Given the description of an element on the screen output the (x, y) to click on. 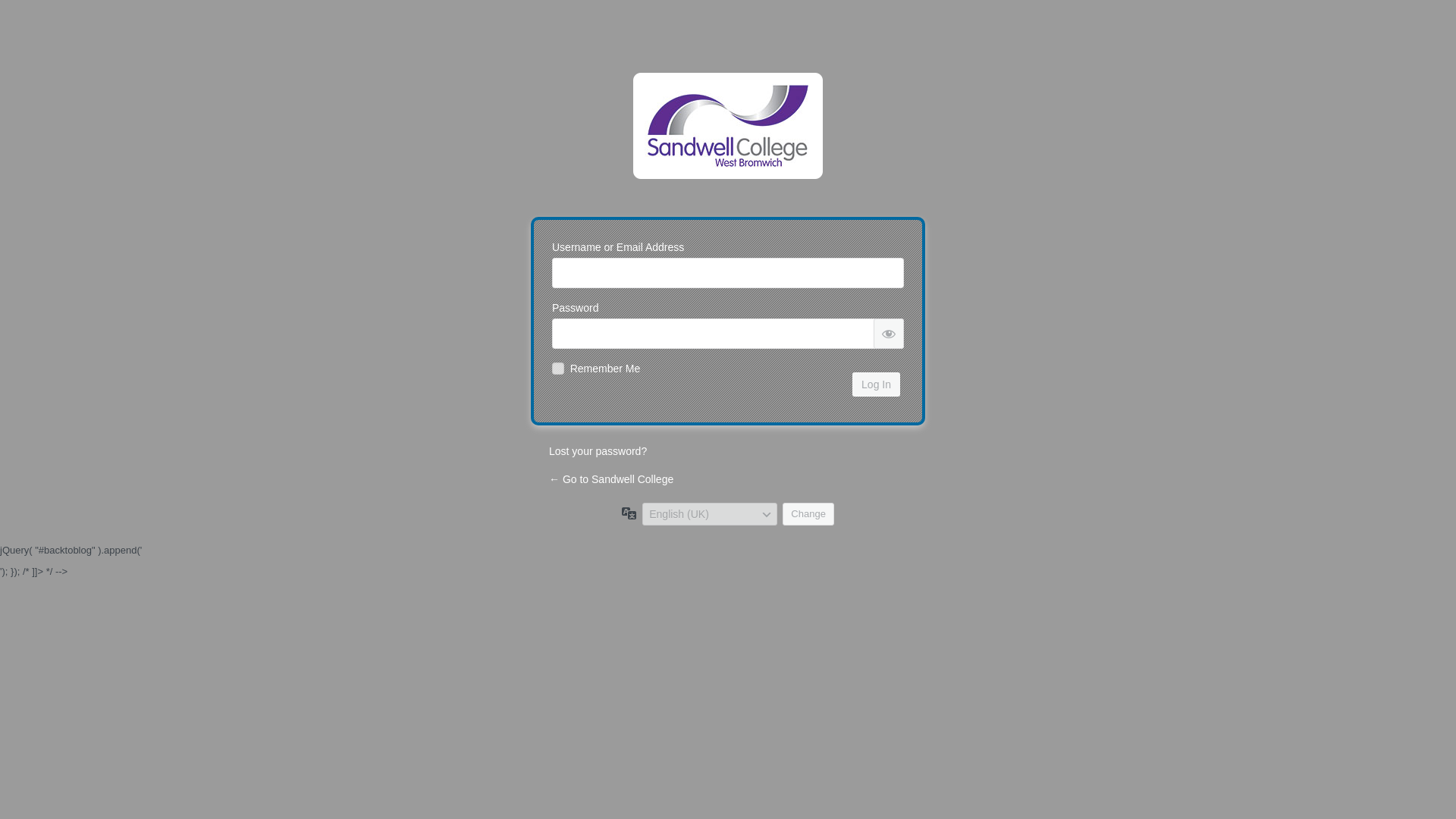
Change (808, 513)
Log In (875, 384)
forever (557, 368)
Lost your password? (597, 451)
Change (808, 513)
Log In (875, 384)
Sandwell College (727, 136)
